Given the description of an element on the screen output the (x, y) to click on. 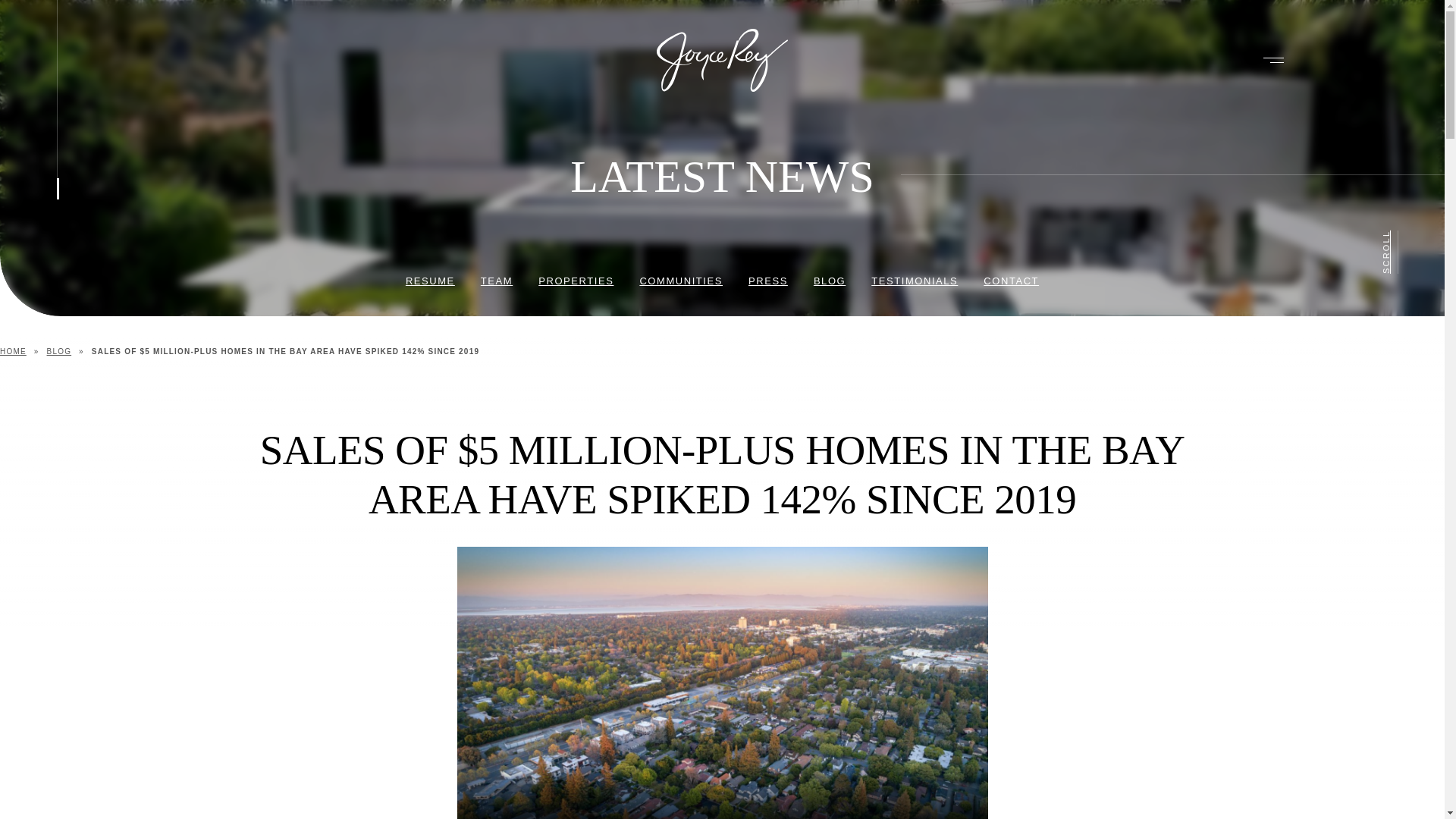
SCROLL (1403, 238)
COMMUNITIES (680, 280)
PROPERTIES (575, 280)
TEAM (496, 280)
PRESS (767, 280)
RESUME (430, 280)
